Given the description of an element on the screen output the (x, y) to click on. 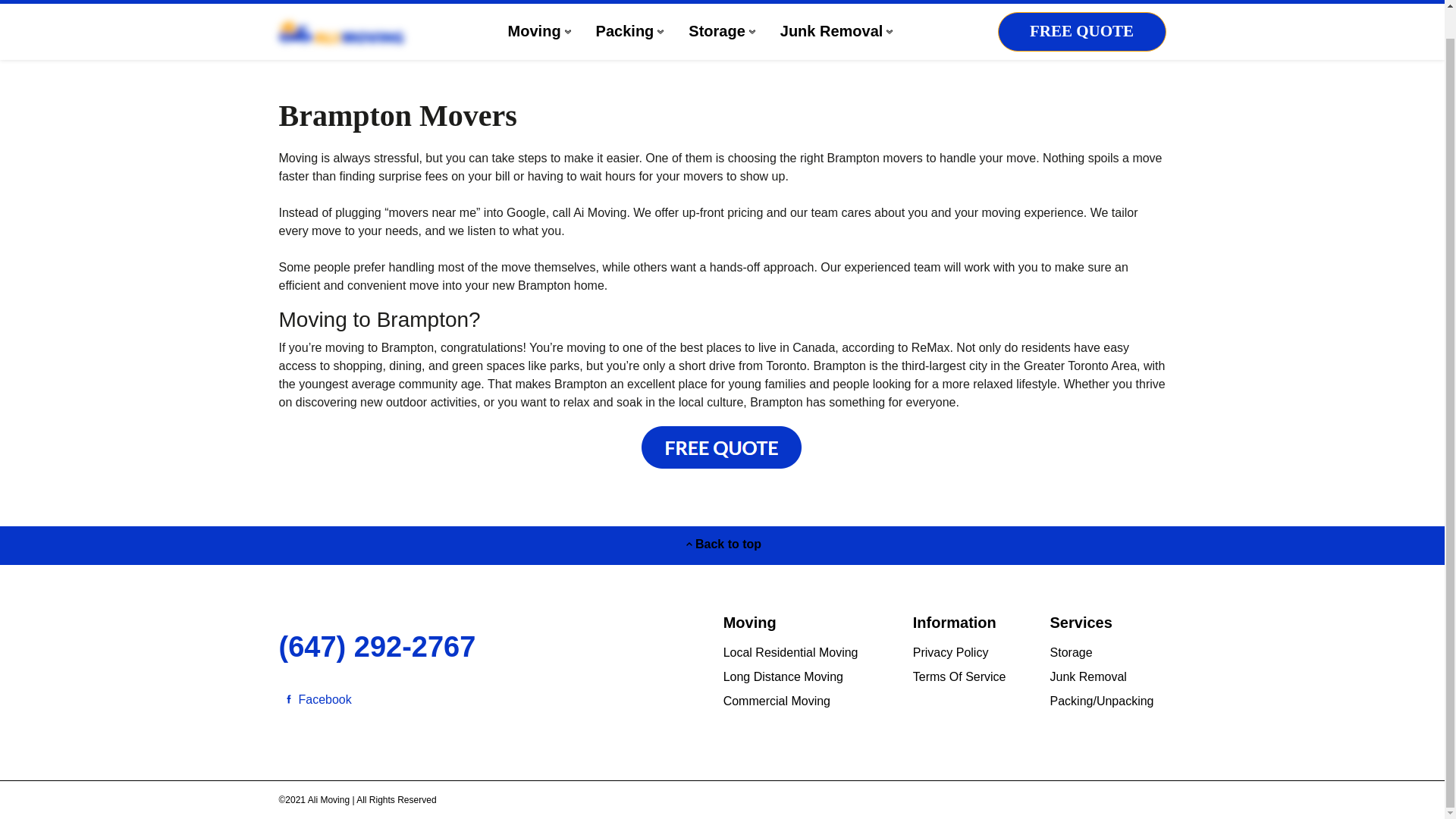
Junk Removal (836, 31)
Local Residential Moving (791, 652)
Brampton Movers Free Quote (722, 466)
Privacy Policy (950, 652)
Junk Removal (1087, 676)
Facebook (315, 699)
Long Distance Moving (783, 676)
Terms Of Service (959, 676)
Moving (540, 31)
Storage (721, 31)
